Given the description of an element on the screen output the (x, y) to click on. 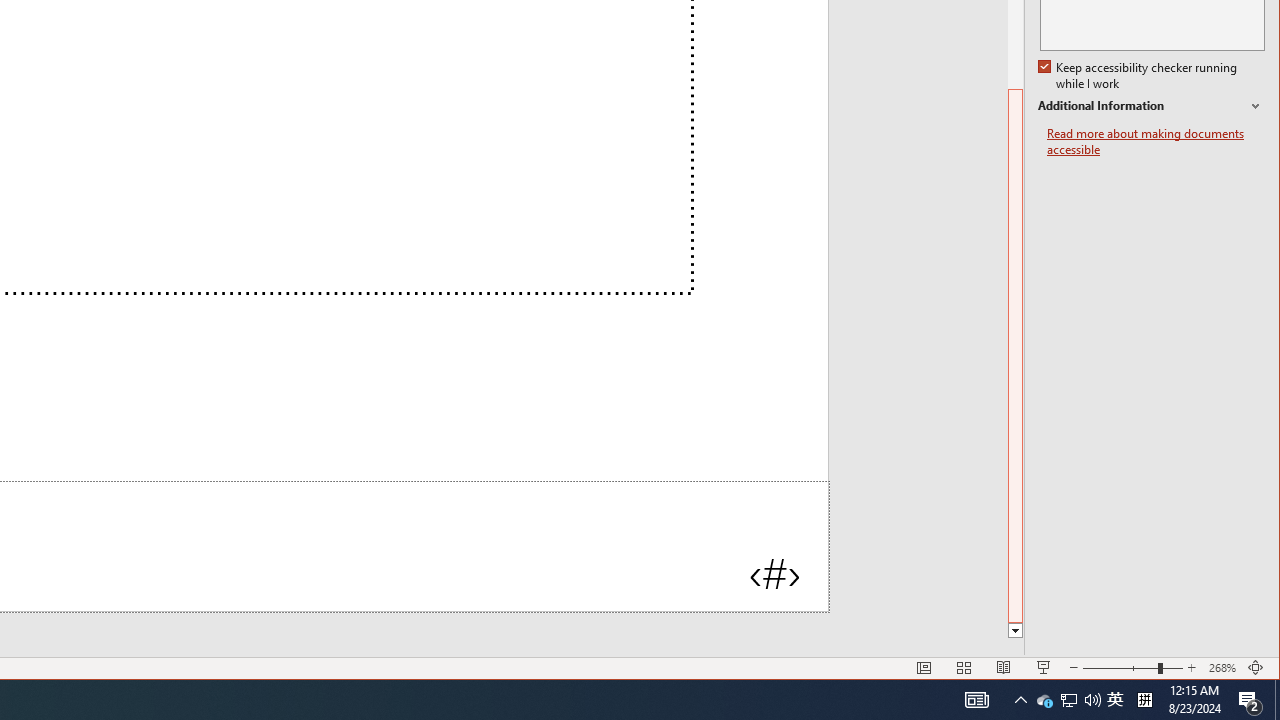
User Promoted Notification Area (1068, 699)
Zoom (1132, 668)
Show desktop (1277, 699)
Action Center, 2 new notifications (1250, 699)
AutomationID: 4105 (976, 699)
Zoom Out (1120, 668)
Slide Show (1043, 668)
Q2790: 100% (1092, 699)
